Given the description of an element on the screen output the (x, y) to click on. 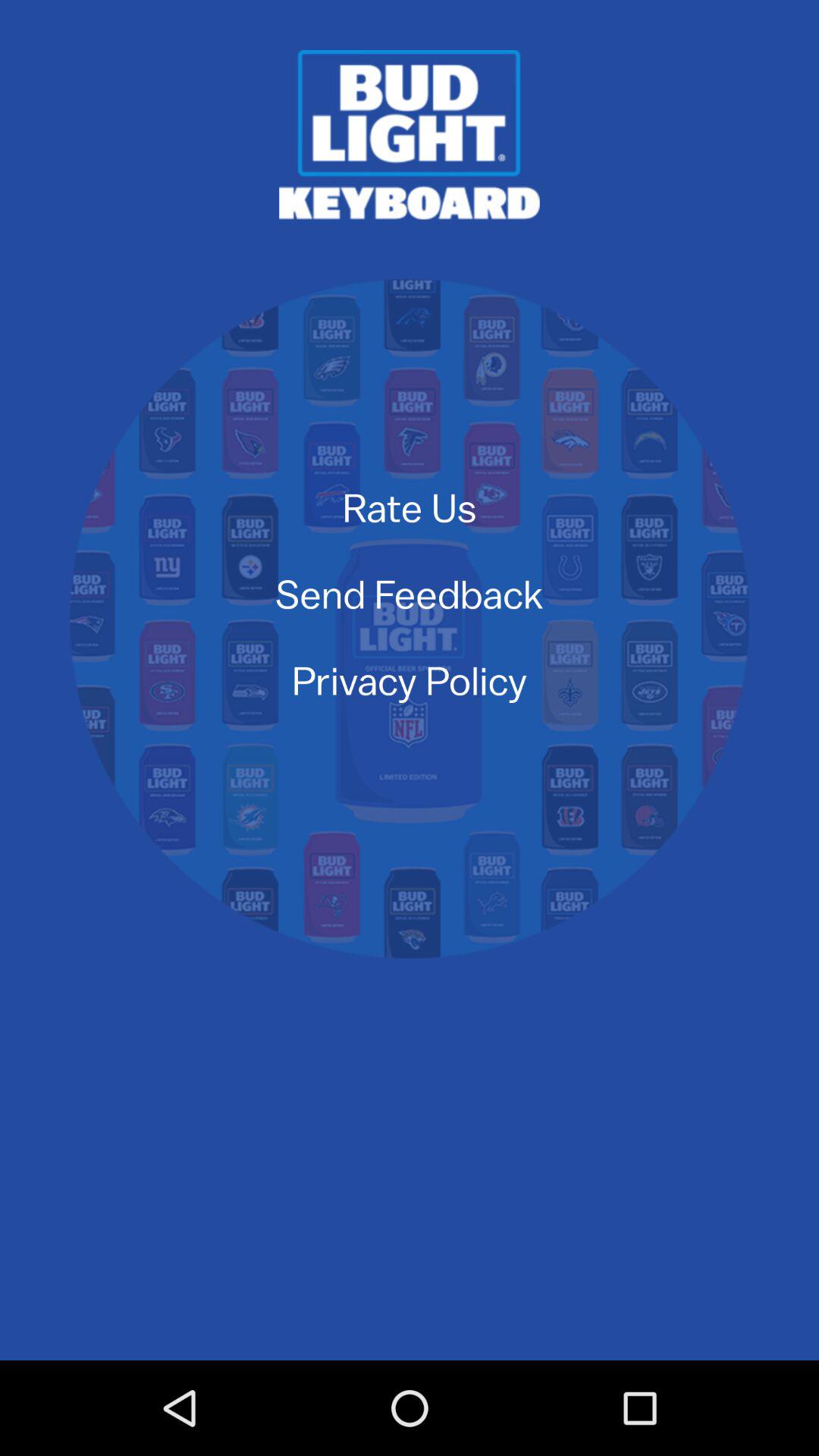
swipe to send feedback item (409, 593)
